Given the description of an element on the screen output the (x, y) to click on. 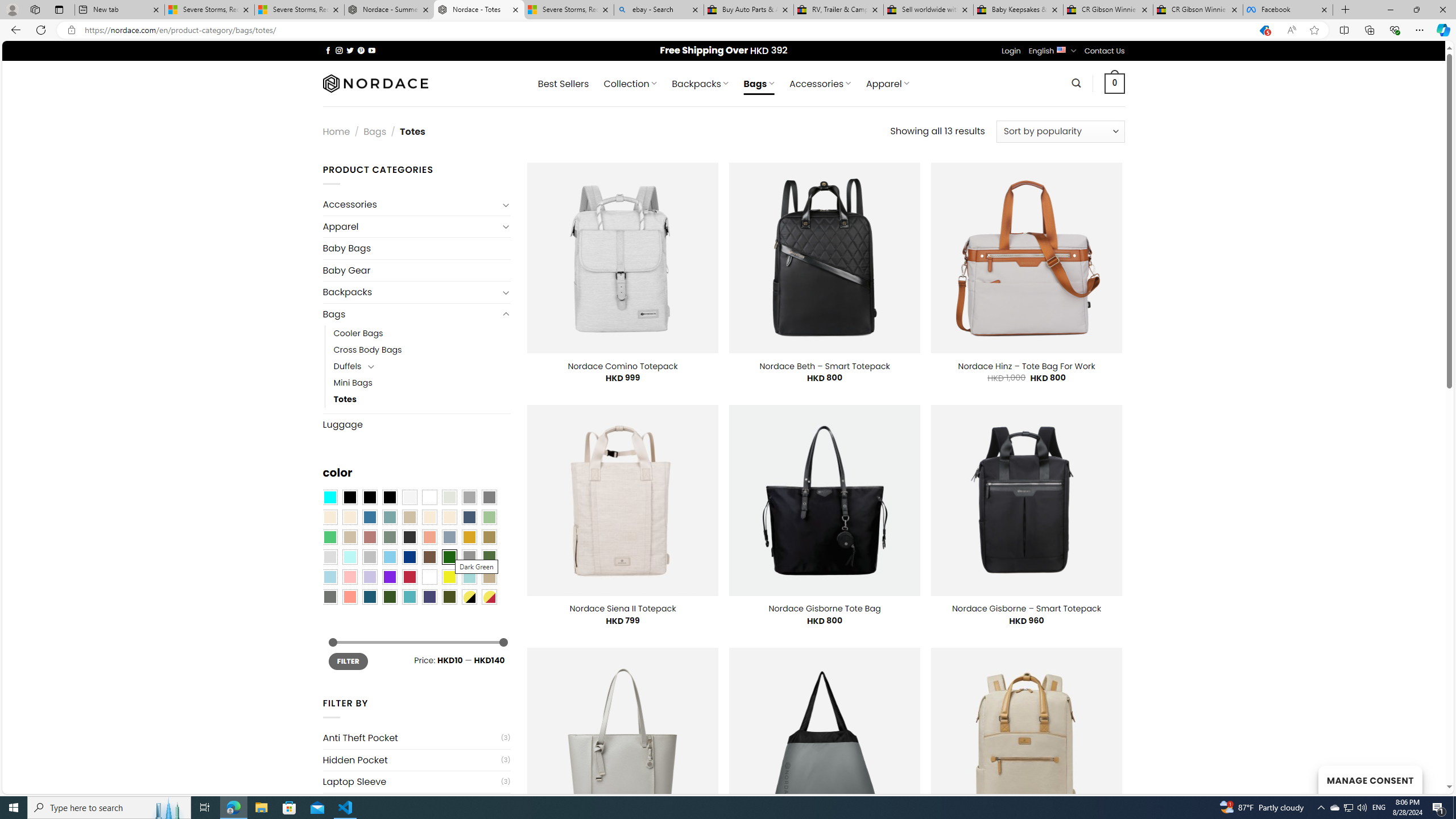
Dusty Blue (449, 536)
Backpacks (410, 292)
Sky Blue (389, 557)
  0   (1115, 83)
